Given the description of an element on the screen output the (x, y) to click on. 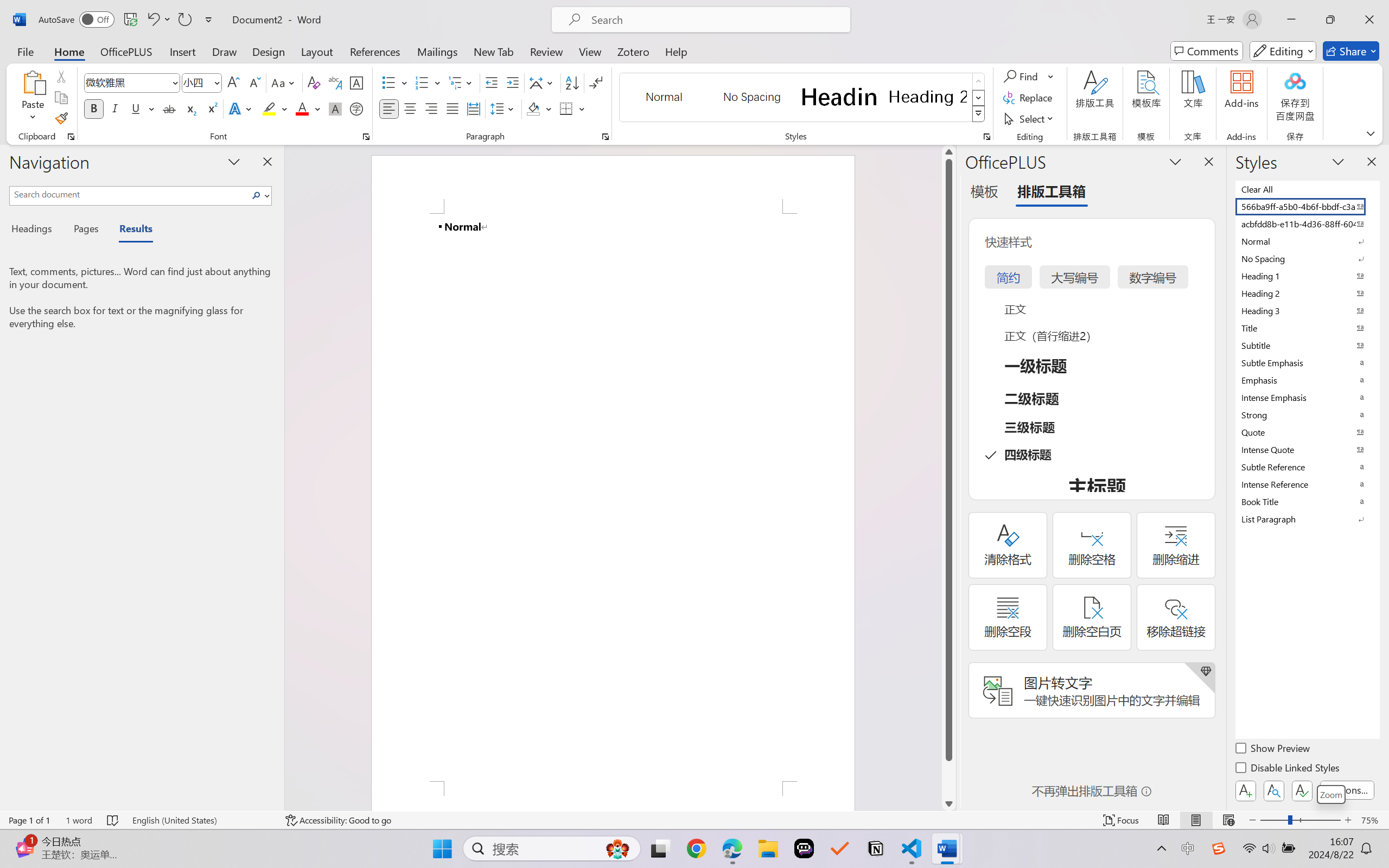
Shrink Font (253, 82)
Normal (1306, 240)
Draw (224, 51)
No Spacing (1306, 258)
Language English (United States) (201, 819)
Row Down (978, 97)
Page Number Page 1 of 1 (29, 819)
Task Pane Options (1175, 161)
Design (268, 51)
Line down (948, 803)
Options... (1346, 789)
Title (1306, 327)
